Given the description of an element on the screen output the (x, y) to click on. 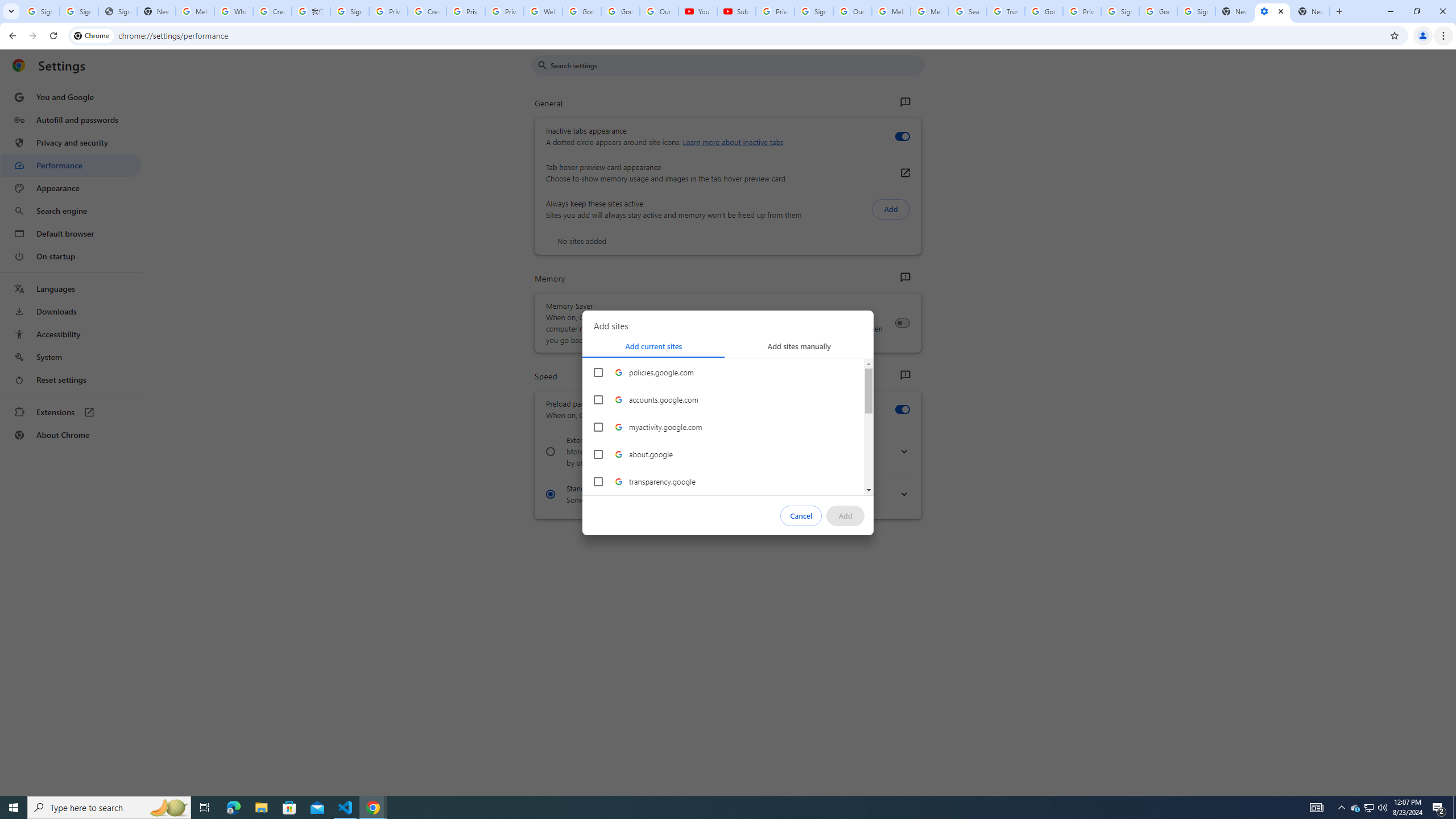
Google Ads - Sign in (1043, 11)
Settings - Performance (1272, 11)
policies.google.com (598, 371)
Sign in - Google Accounts (40, 11)
